Given the description of an element on the screen output the (x, y) to click on. 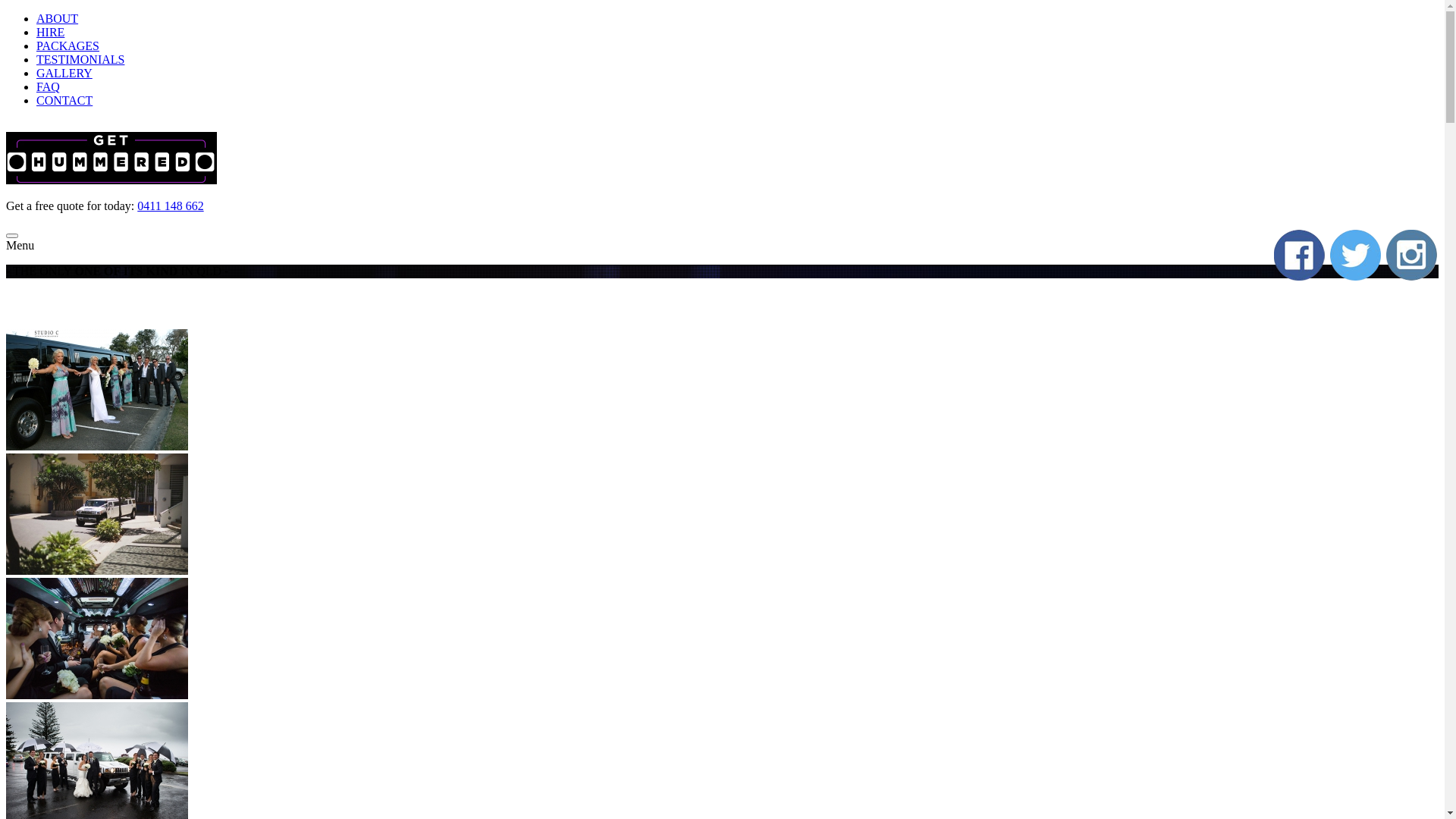
HIRE Element type: text (50, 31)
karenabenn_638 Element type: hover (97, 638)
0411 148 662 Element type: text (170, 205)
FAQ Element type: text (47, 86)
GetHummered Logo Element type: hover (111, 157)
417236_334082849958962_1903936623_n Element type: hover (97, 513)
bridal-party Element type: hover (97, 389)
ABOUT Element type: text (57, 18)
PACKAGES Element type: text (67, 45)
GetHummered Facebook Page Element type: hover (1299, 255)
GetHummered Instagram Element type: hover (1411, 255)
GALLERY Element type: text (64, 72)
TESTIMONIALS Element type: text (80, 59)
CONTACT Element type: text (64, 100)
GetHummered Twitter Element type: hover (1355, 255)
